Given the description of an element on the screen output the (x, y) to click on. 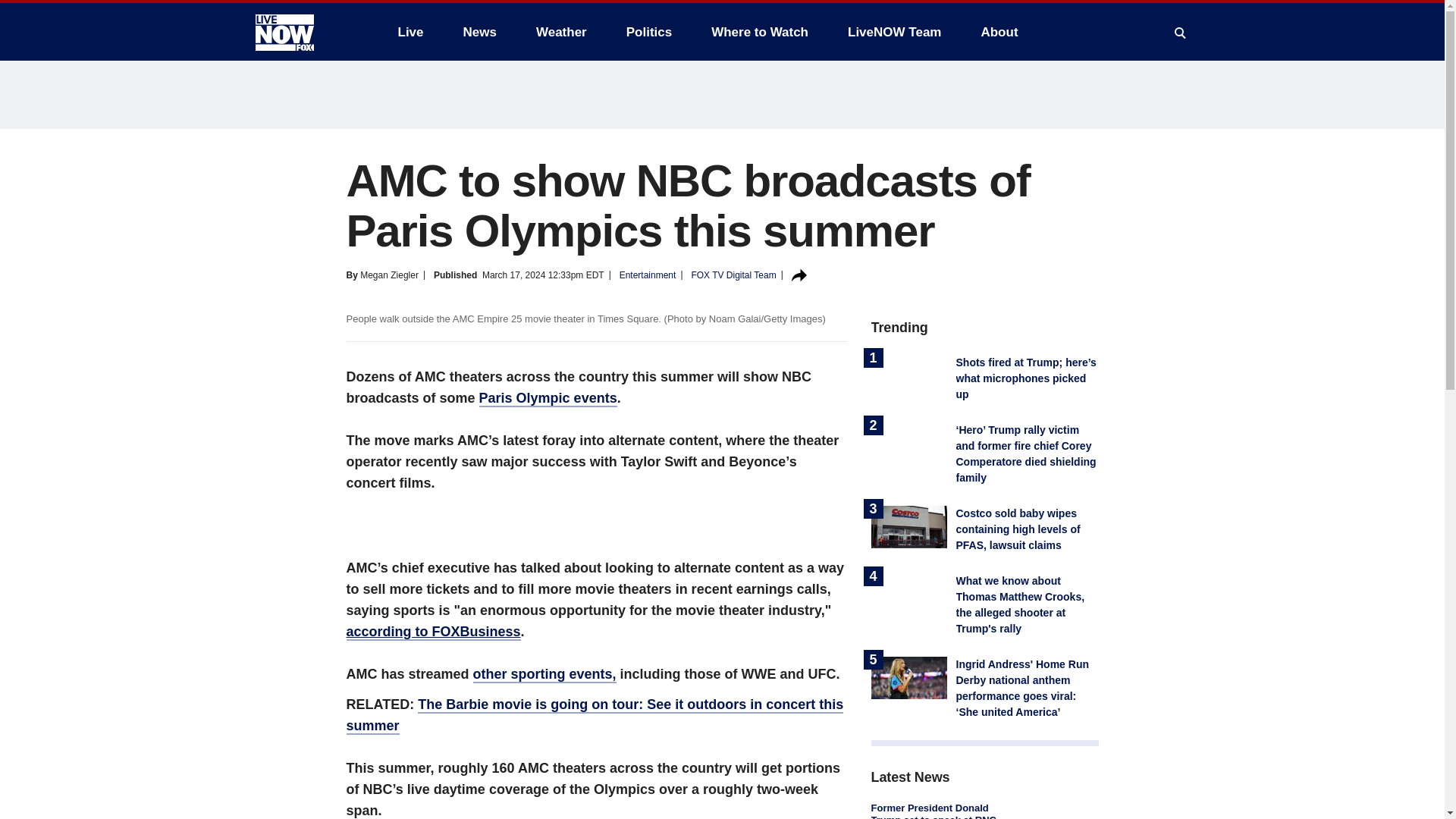
News (479, 32)
Live (410, 32)
About (998, 32)
Where to Watch (759, 32)
LiveNOW Team (894, 32)
Politics (649, 32)
Weather (561, 32)
